Given the description of an element on the screen output the (x, y) to click on. 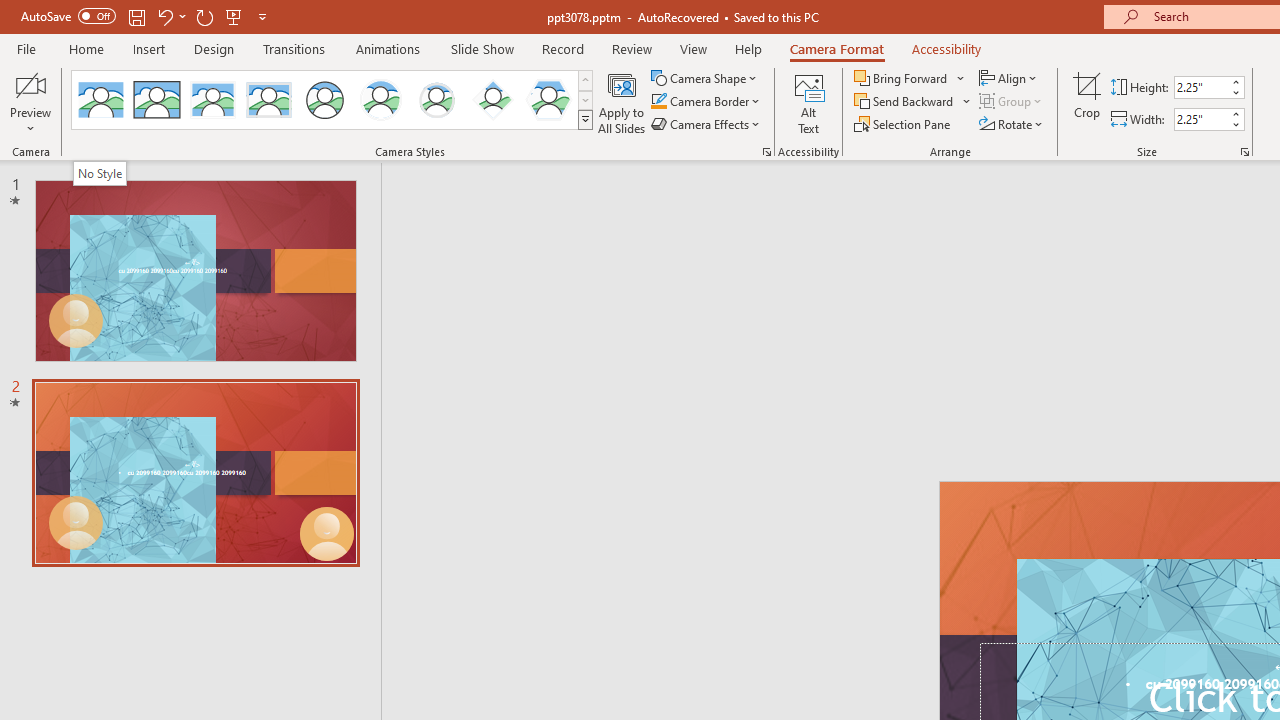
Group (1012, 101)
Rotate (1012, 124)
Camera Border (706, 101)
Home (86, 48)
No Style (99, 173)
Save (136, 15)
Soft Edge Rectangle (268, 100)
Cameo Height (1201, 87)
Apply to All Slides (621, 102)
Animations (388, 48)
Enable Camera Preview (30, 84)
Soft Edge Circle (436, 100)
Slide Show (481, 48)
Accessibility (946, 48)
Less (1235, 124)
